Given the description of an element on the screen output the (x, y) to click on. 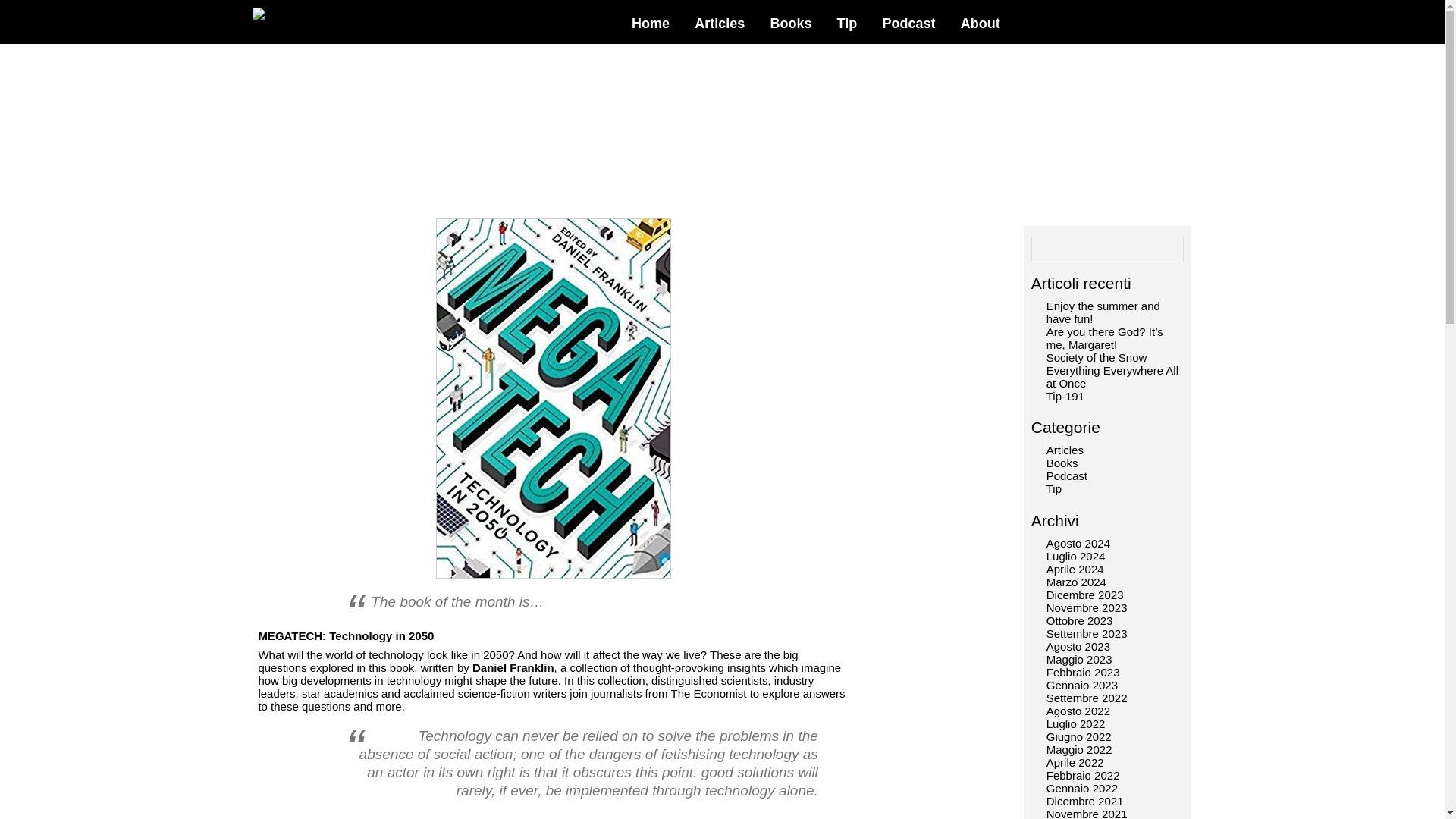
Luglio 2024 (1075, 555)
Novembre 2023 (1086, 607)
Books (790, 23)
Everything Everywhere All at Once (1111, 376)
Ottobre 2023 (1079, 620)
Agosto 2023 (1077, 645)
About (980, 23)
Society of the Snow (1096, 357)
Home (650, 23)
Marzo 2024 (1076, 581)
